Given the description of an element on the screen output the (x, y) to click on. 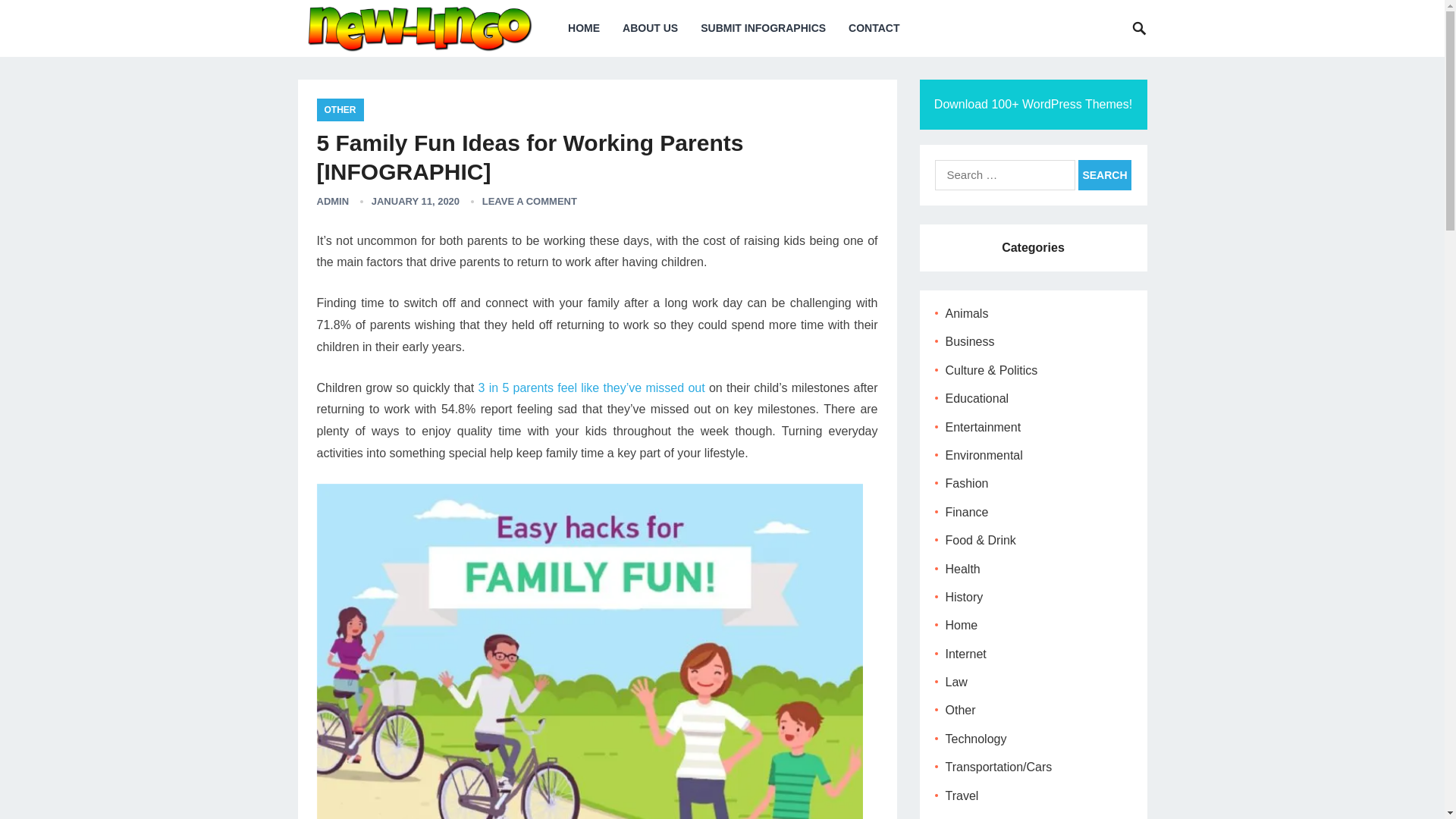
Business (969, 341)
Environmental (983, 454)
Health (961, 568)
SUBMIT INFOGRAPHICS (762, 28)
Law (955, 681)
Animals (966, 313)
Posts by Admin (333, 201)
Travel (961, 795)
History (963, 596)
Search (1104, 174)
